Given the description of an element on the screen output the (x, y) to click on. 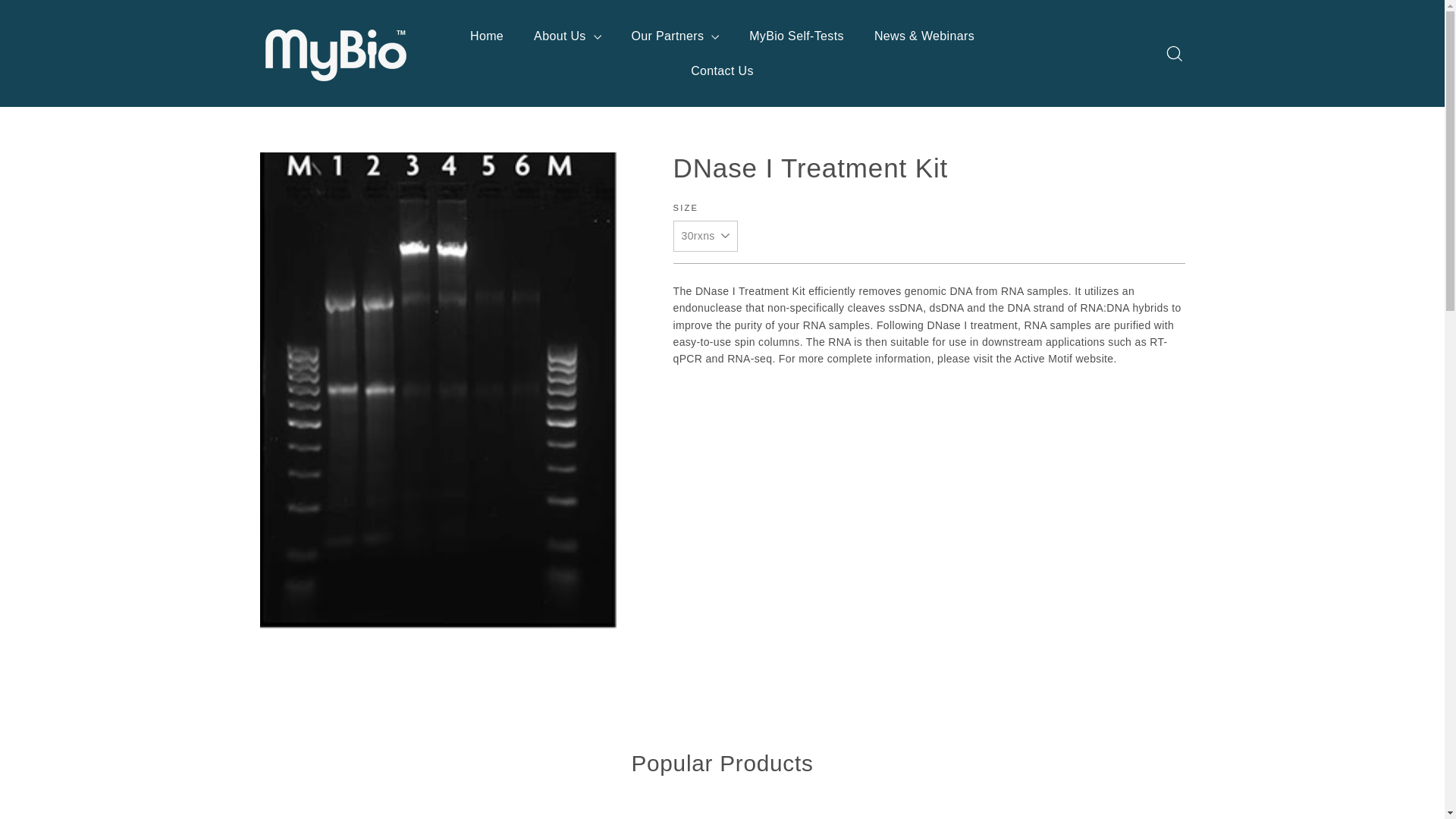
Home (486, 36)
About Us (566, 36)
Our Partners (675, 36)
